Given the description of an element on the screen output the (x, y) to click on. 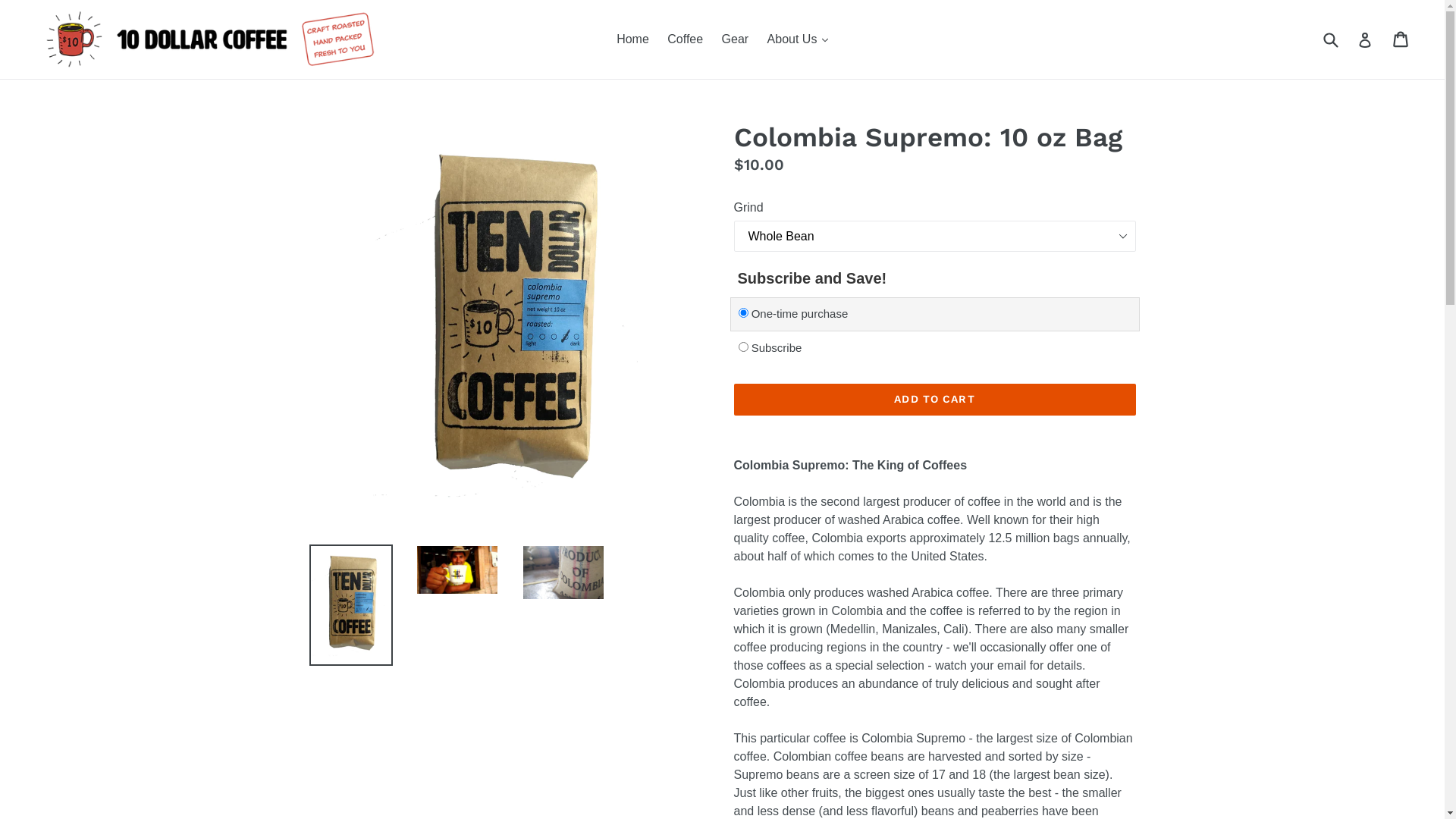
Log in Element type: text (1364, 39)
Home Element type: text (632, 39)
ADD TO CART Element type: text (934, 399)
Submit Element type: text (1329, 38)
Gear Element type: text (735, 39)
Coffee Element type: text (684, 39)
Cart
Cart Element type: text (1401, 38)
